Given the description of an element on the screen output the (x, y) to click on. 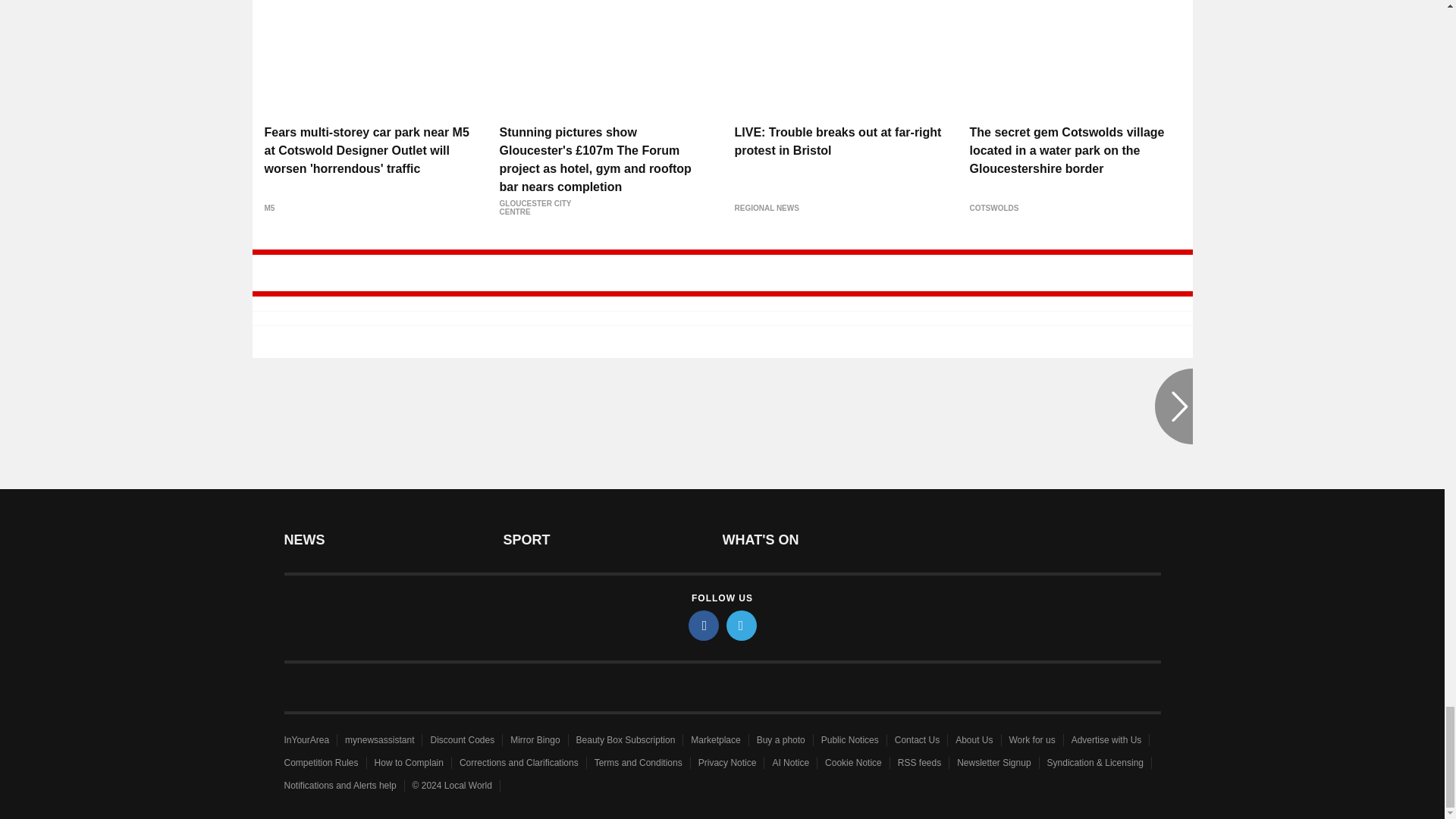
facebook (703, 625)
twitter (741, 625)
